Given the description of an element on the screen output the (x, y) to click on. 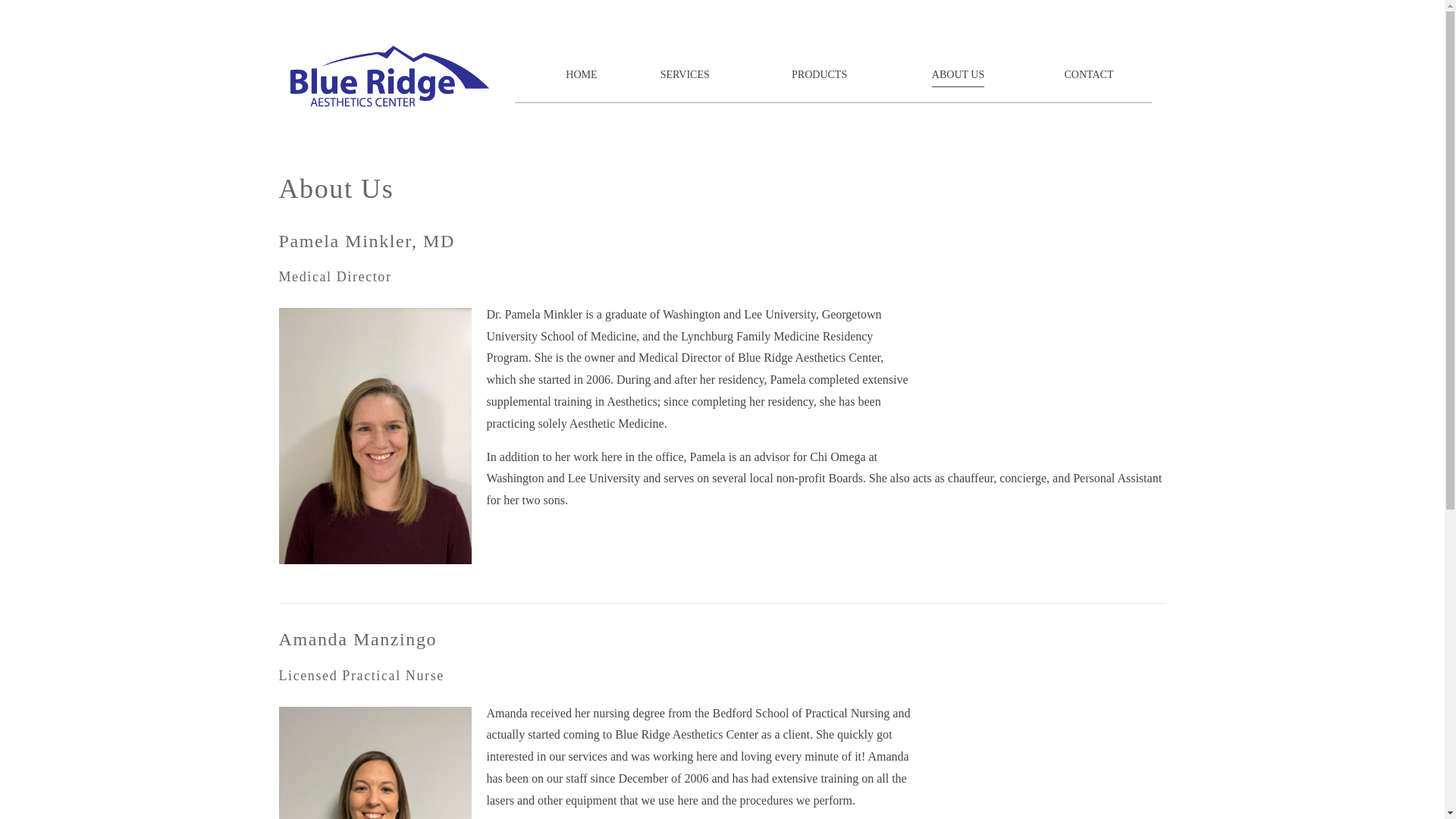
SERVICES (685, 75)
CONTACT (1088, 75)
ABOUT US (957, 75)
PRODUCTS (819, 75)
